Given the description of an element on the screen output the (x, y) to click on. 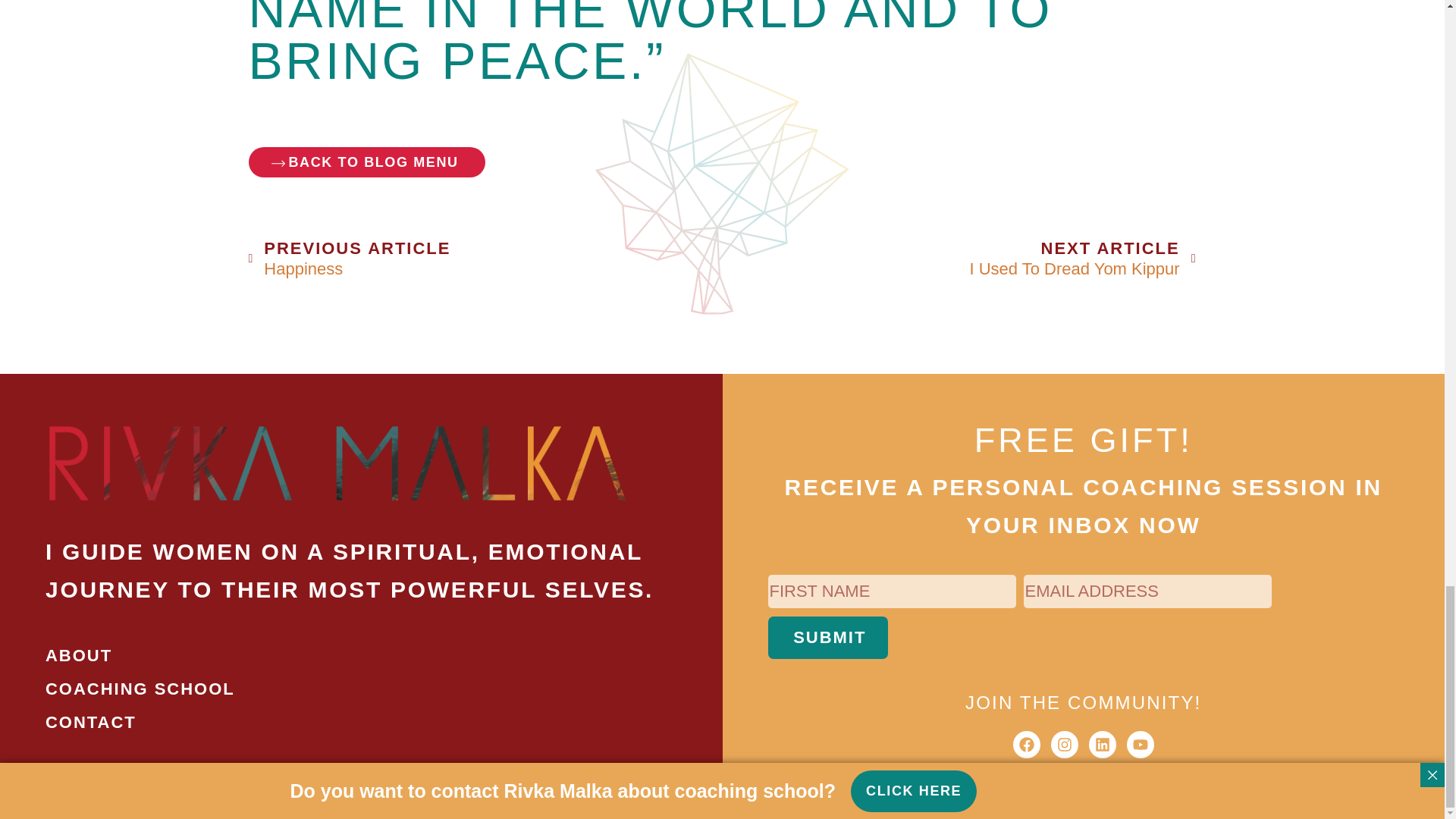
COACHING SCHOOL (361, 688)
BACK TO BLOG MENU (366, 162)
SUBMIT (485, 258)
CONTACT (958, 258)
ABOUT (827, 637)
